Given the description of an element on the screen output the (x, y) to click on. 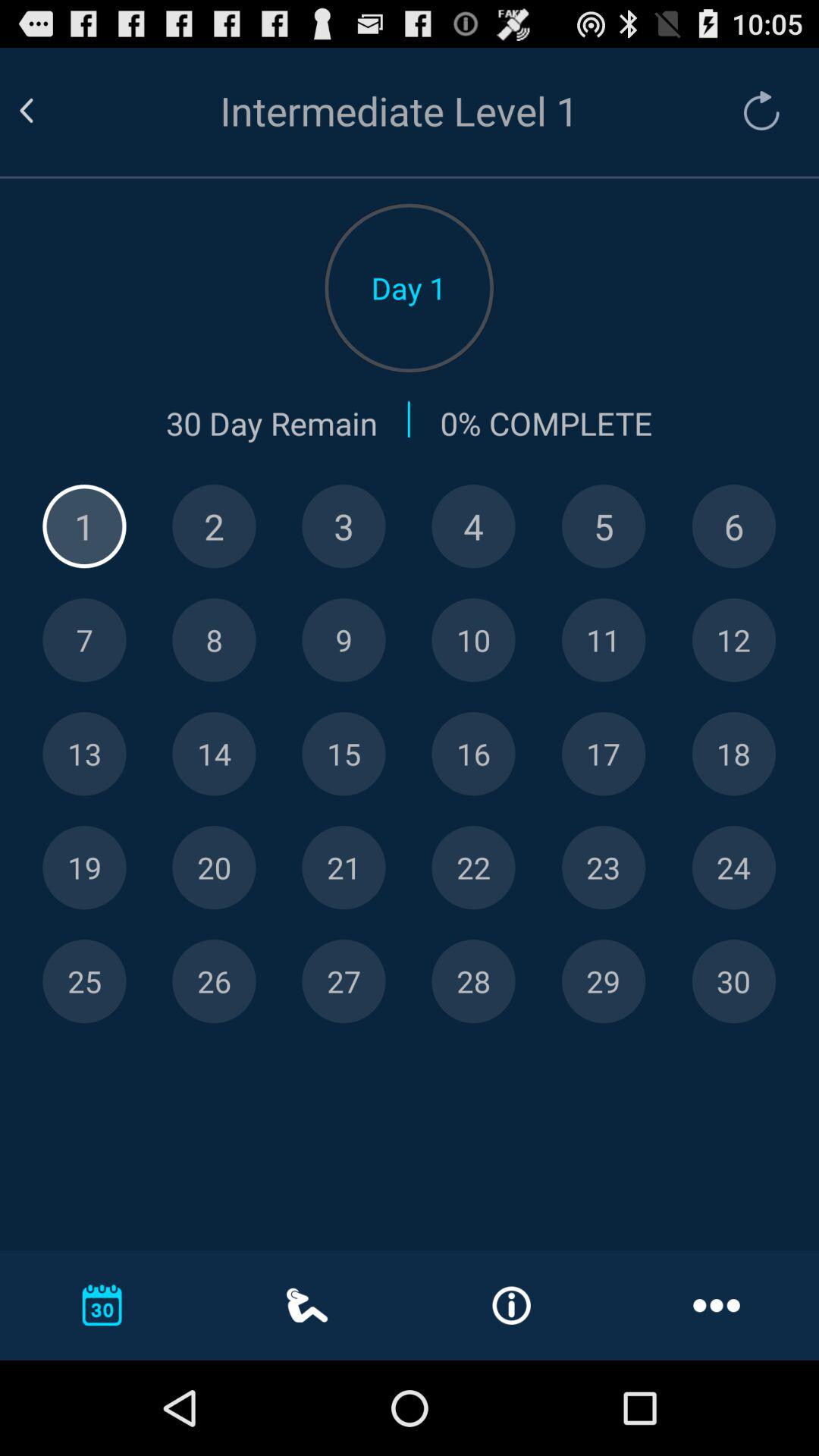
select this date (603, 867)
